Given the description of an element on the screen output the (x, y) to click on. 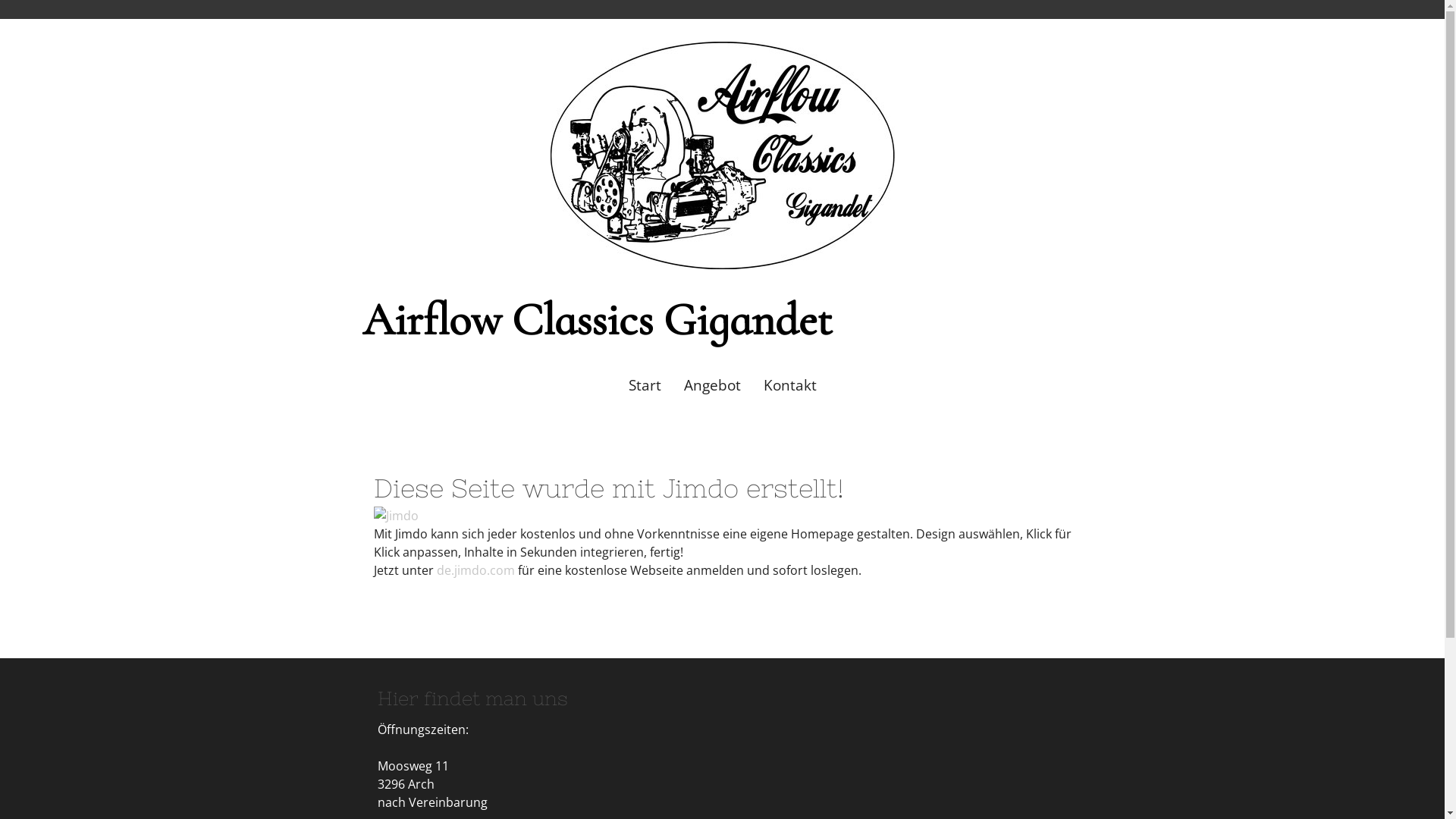
Jimdo Element type: hover (395, 515)
Angebot Element type: text (711, 385)
de.jimdo.com Element type: text (475, 569)
Kontakt Element type: text (790, 385)
Start Element type: text (644, 385)
Airflow Classics Gigandet Element type: text (596, 329)
